Given the description of an element on the screen output the (x, y) to click on. 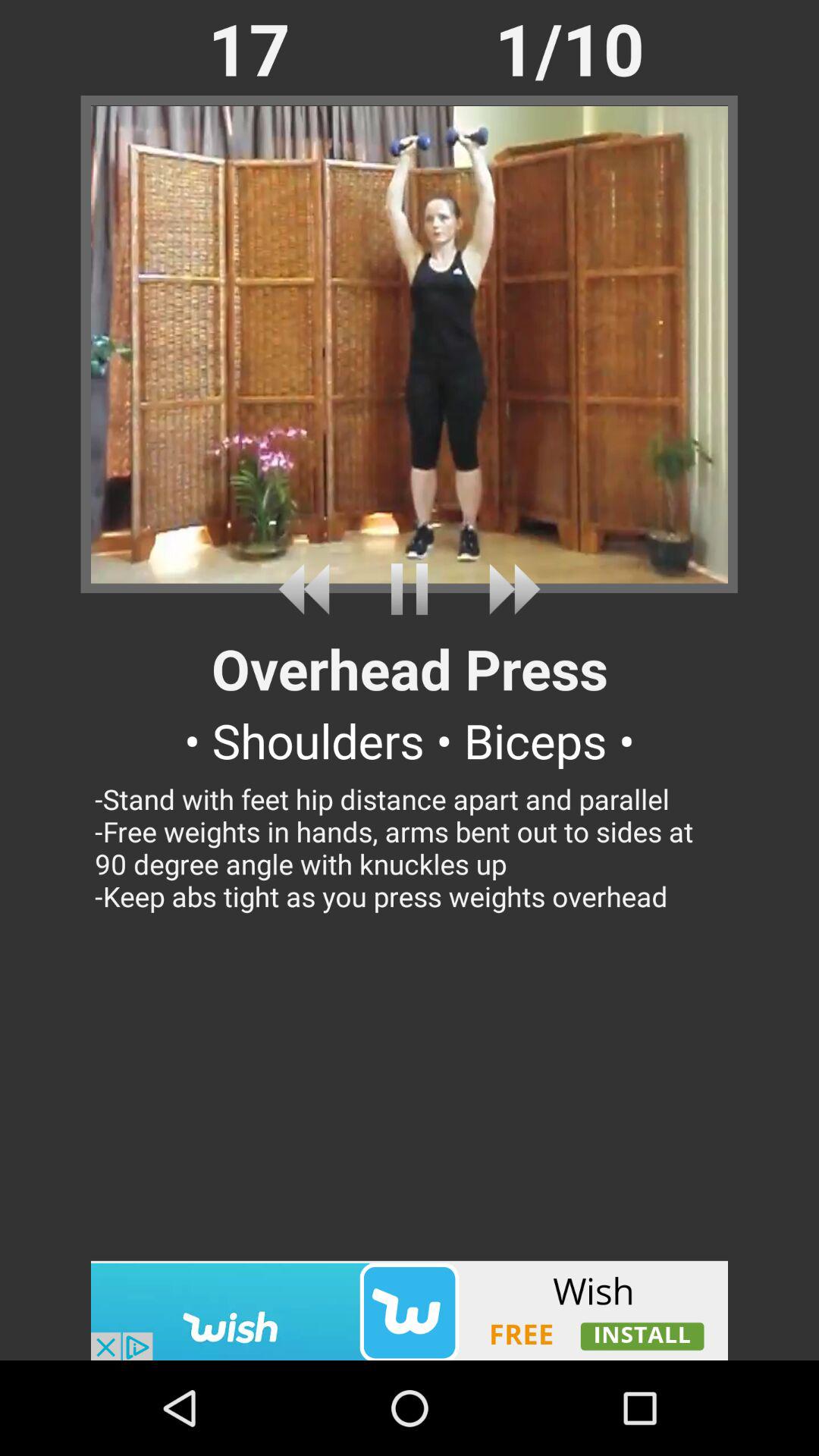
go to advertisement (409, 1310)
